Given the description of an element on the screen output the (x, y) to click on. 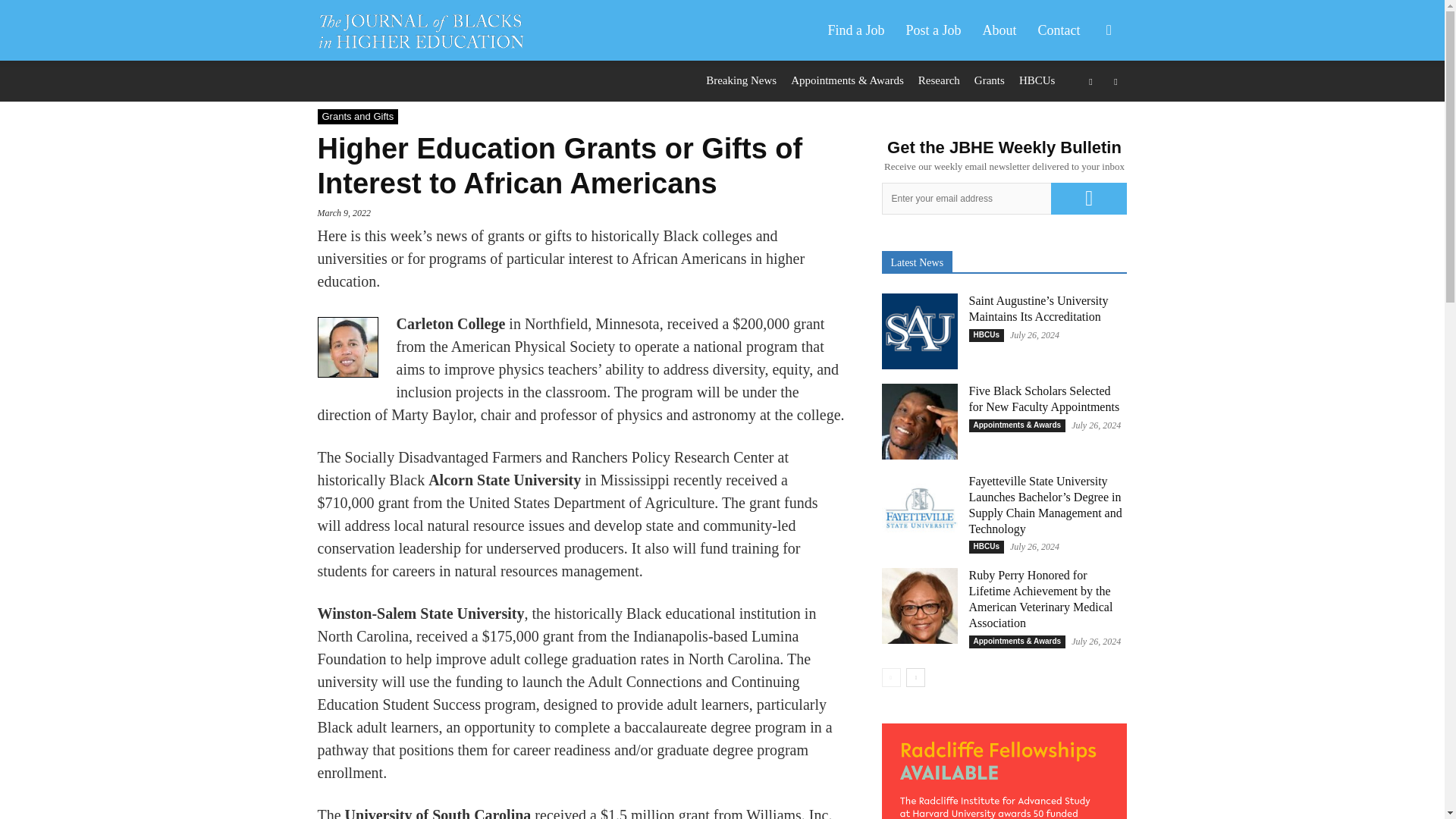
Find a Job (855, 30)
Research (938, 80)
Contact (1058, 30)
HBCUs (1037, 80)
The Journal of Blacks in Higher Education (419, 30)
Breaking News (741, 80)
contact (1058, 30)
The Journal of Blacks in Higher Education (428, 30)
Grants and Gifts (357, 116)
Grants (989, 80)
Post a Job (933, 30)
about (999, 30)
About (999, 30)
Search (1085, 102)
